Given the description of an element on the screen output the (x, y) to click on. 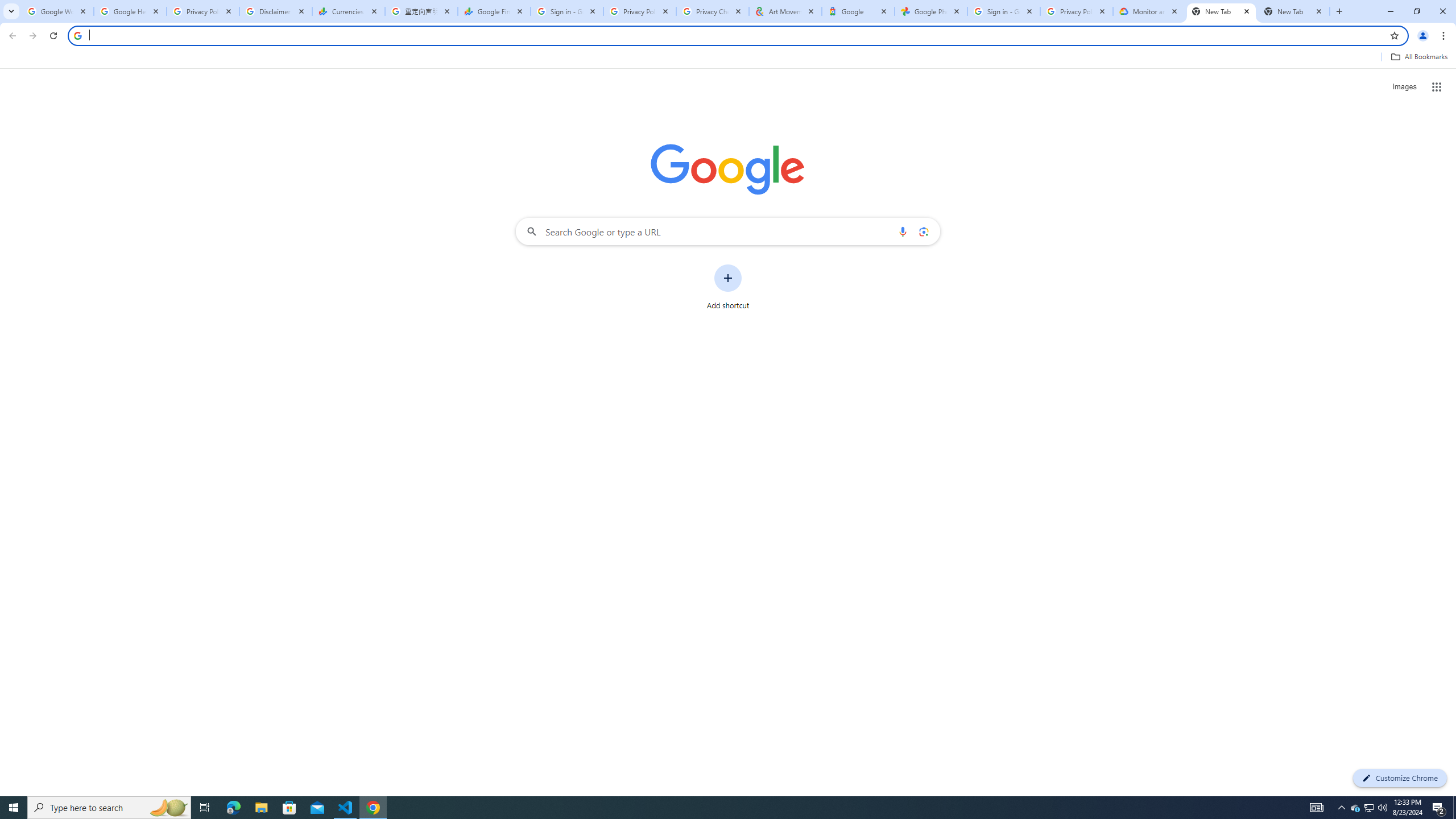
Sign in - Google Accounts (566, 11)
Add shortcut (727, 287)
New Tab (1293, 11)
Privacy Checkup (712, 11)
